Given the description of an element on the screen output the (x, y) to click on. 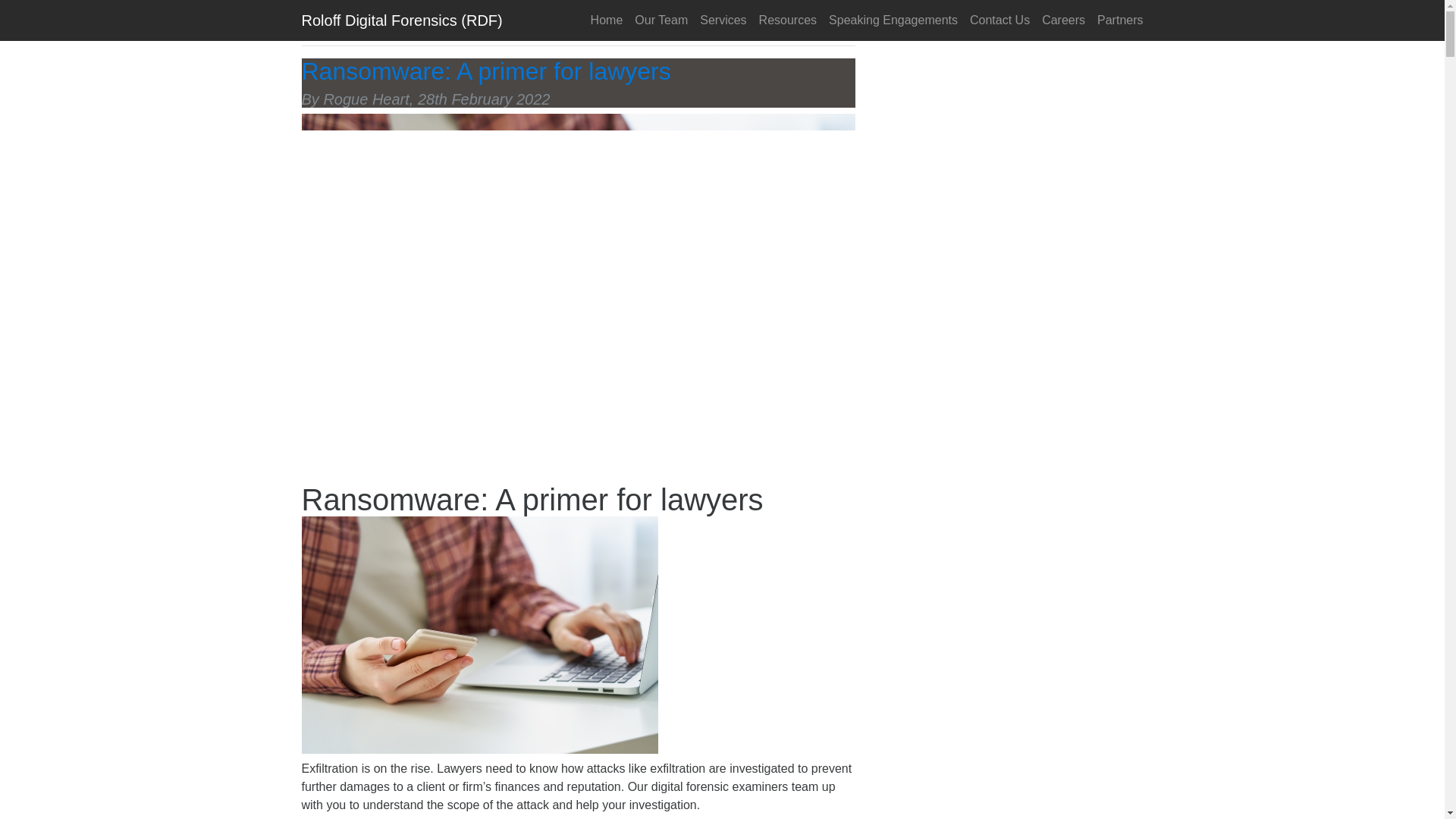
Partners (1119, 20)
Resources (787, 20)
Ransomware: A primer for lawyers (486, 71)
Contact Us (999, 20)
Speaking Engagements (893, 20)
Services (722, 20)
Our Team (660, 20)
Careers (1063, 20)
Home (607, 20)
